Given the description of an element on the screen output the (x, y) to click on. 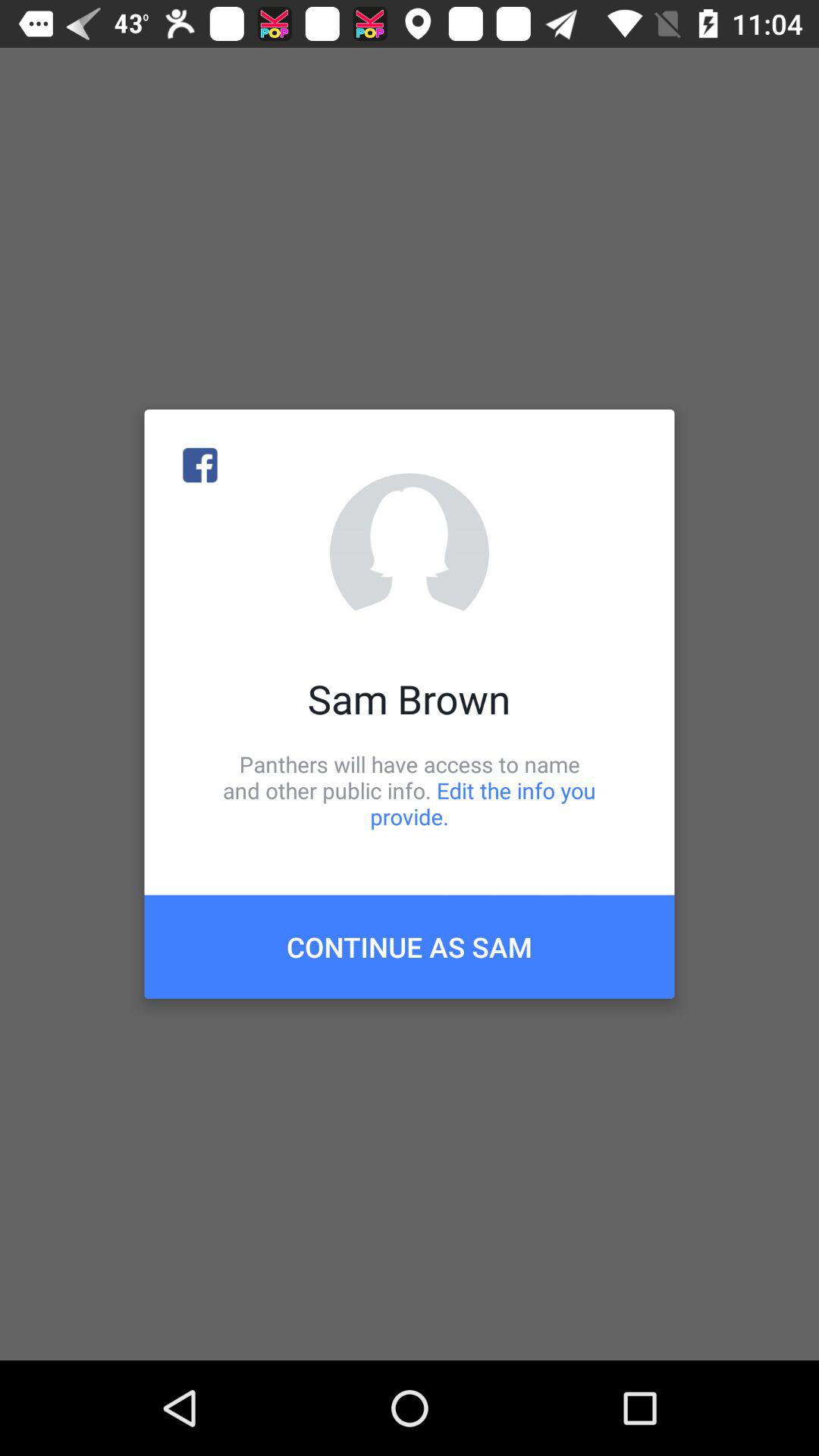
tap the item below the panthers will have icon (409, 946)
